Given the description of an element on the screen output the (x, y) to click on. 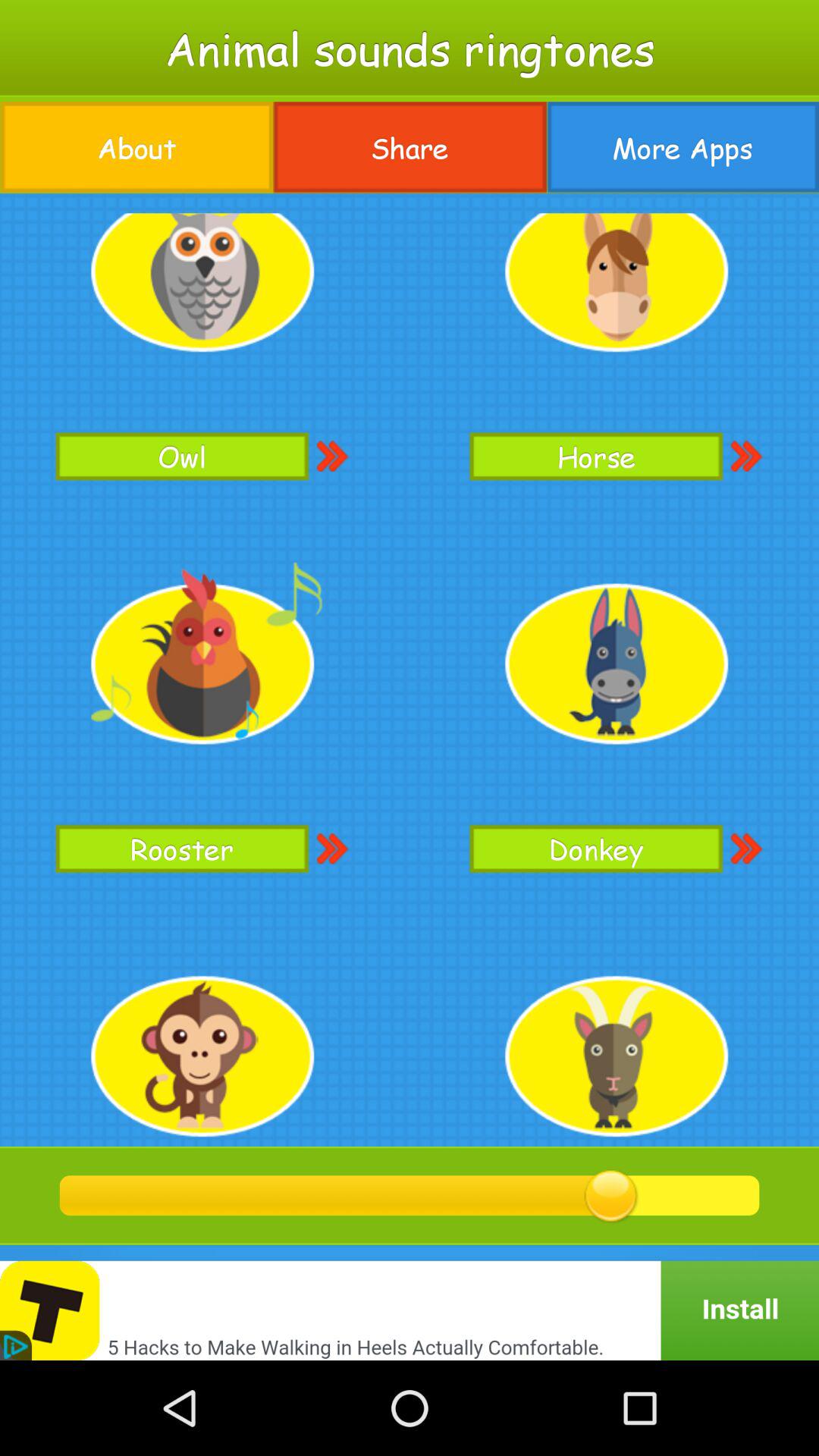
swipe to more apps item (682, 147)
